Given the description of an element on the screen output the (x, y) to click on. 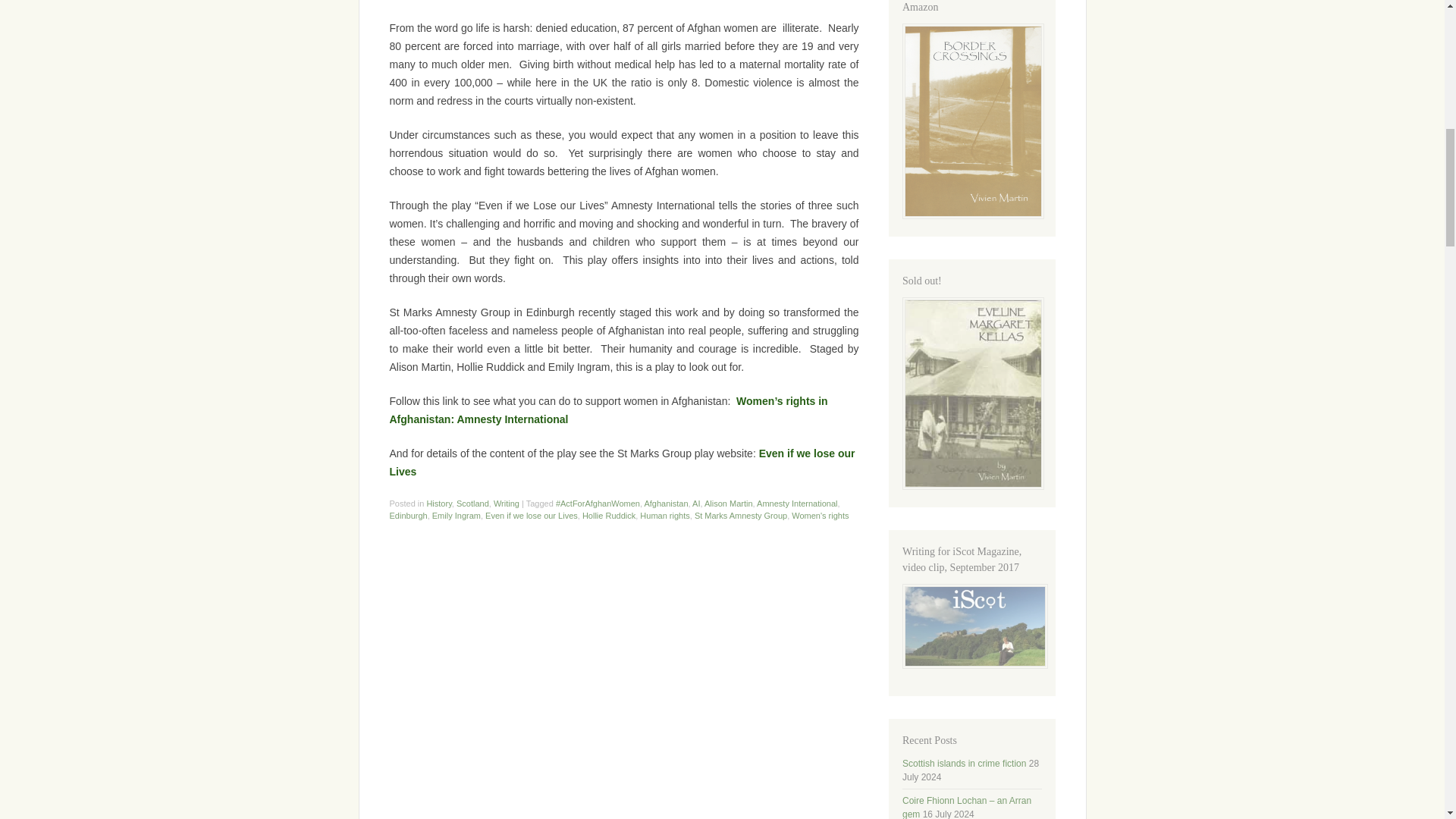
Women's rights (820, 515)
Even if we lose our Lives (623, 462)
Amnesty International (797, 502)
Emily Ingram (456, 515)
Even if we lose our Lives (531, 515)
Human rights (664, 515)
Writing (506, 502)
Even if we lose our Lives (623, 462)
Women's rights in Afghanistan (609, 409)
St Marks Amnesty Group (740, 515)
